Given the description of an element on the screen output the (x, y) to click on. 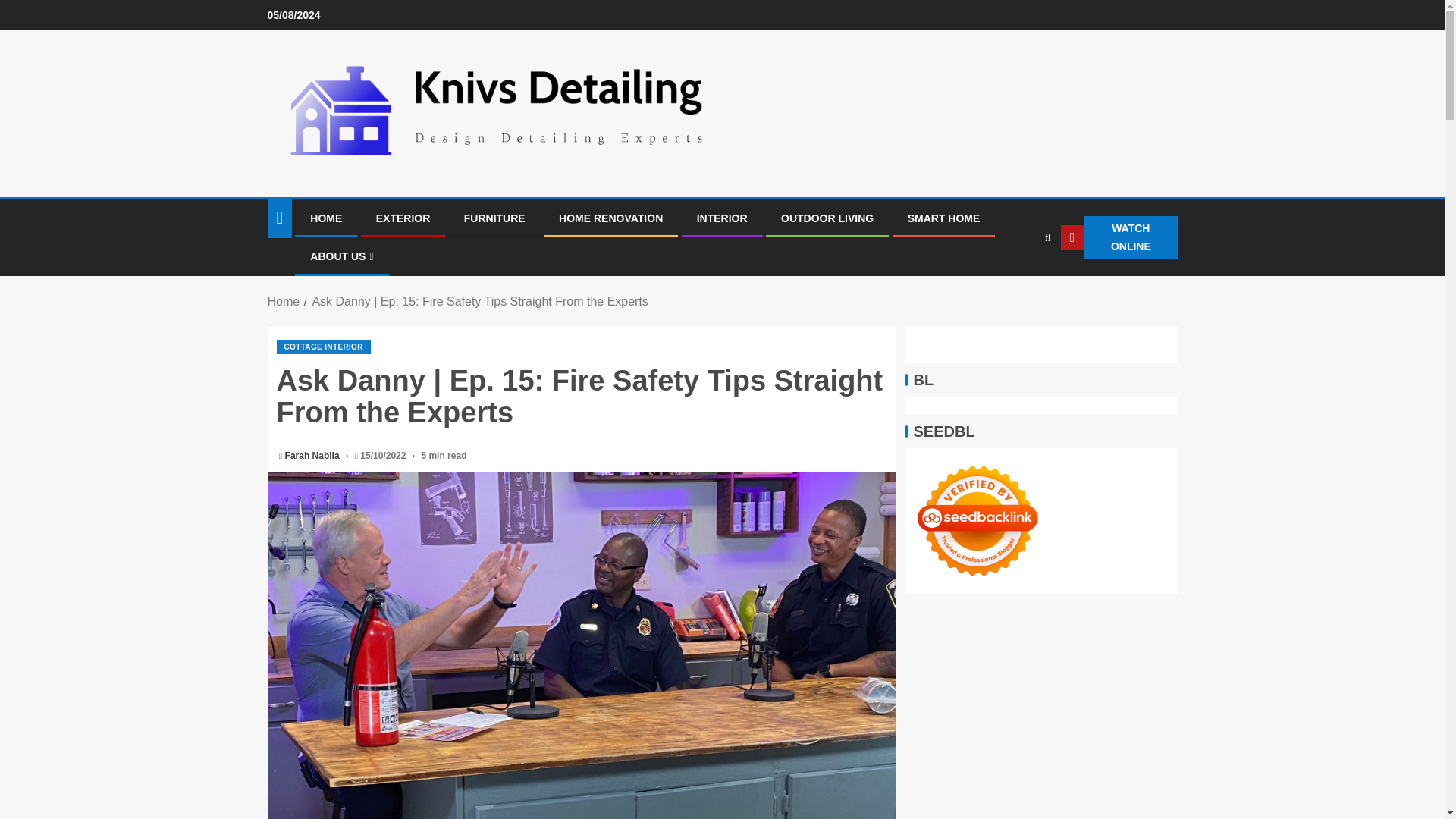
HOME (326, 218)
ABOUT US (341, 256)
Farah Nabila (313, 455)
HOME RENOVATION (610, 218)
OUTDOOR LIVING (826, 218)
FURNITURE (494, 218)
Search (1017, 284)
WATCH ONLINE (1119, 238)
INTERIOR (722, 218)
EXTERIOR (402, 218)
COTTAGE INTERIOR (322, 346)
Home (282, 300)
Seedbacklink (976, 520)
SMART HOME (943, 218)
